Given the description of an element on the screen output the (x, y) to click on. 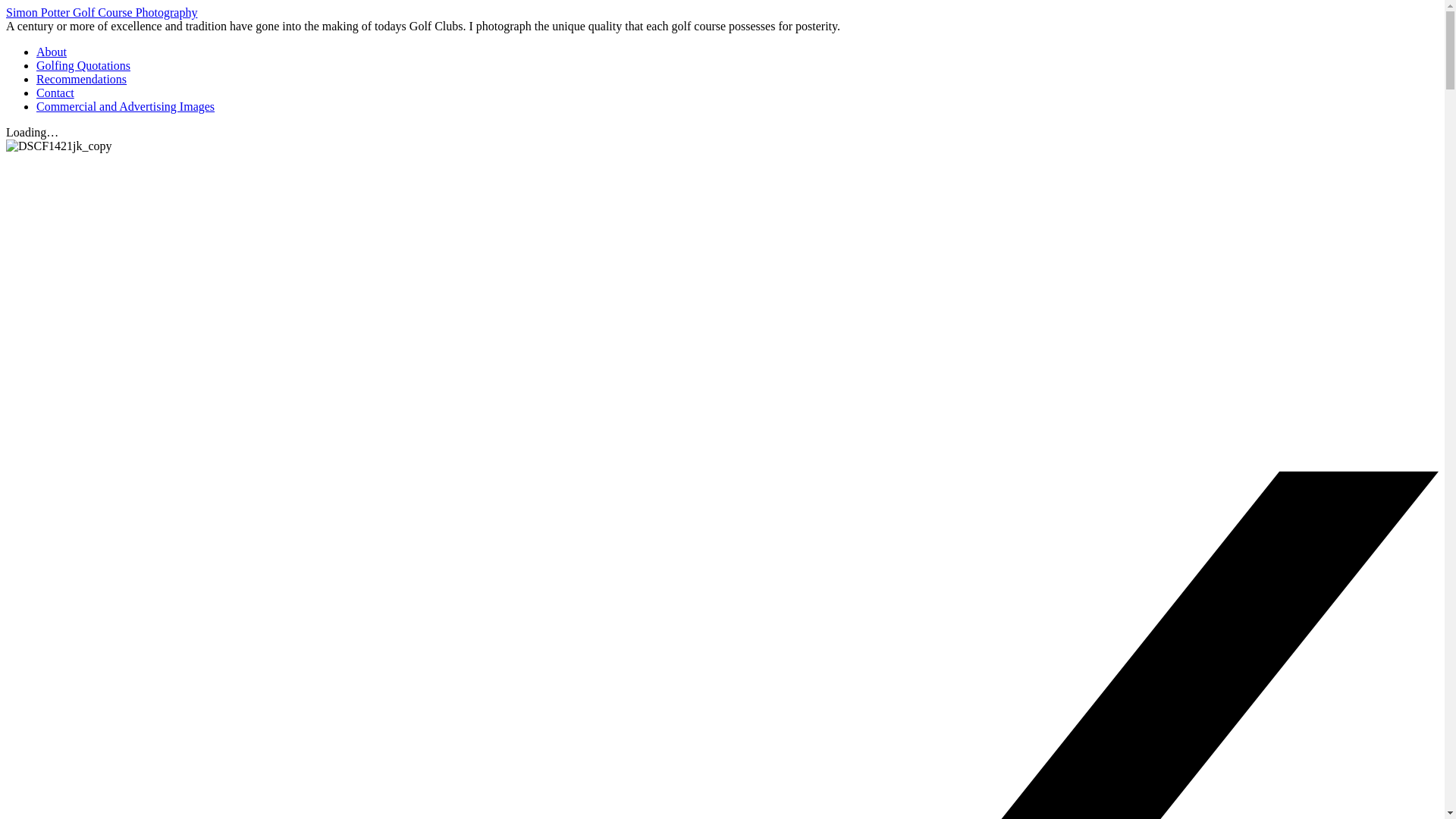
Simon Potter Golf Course Photography (100, 11)
Commercial and Advertising Images (125, 106)
Golfing Quotations (83, 65)
About (51, 51)
Contact (55, 92)
Recommendations (81, 78)
